Given the description of an element on the screen output the (x, y) to click on. 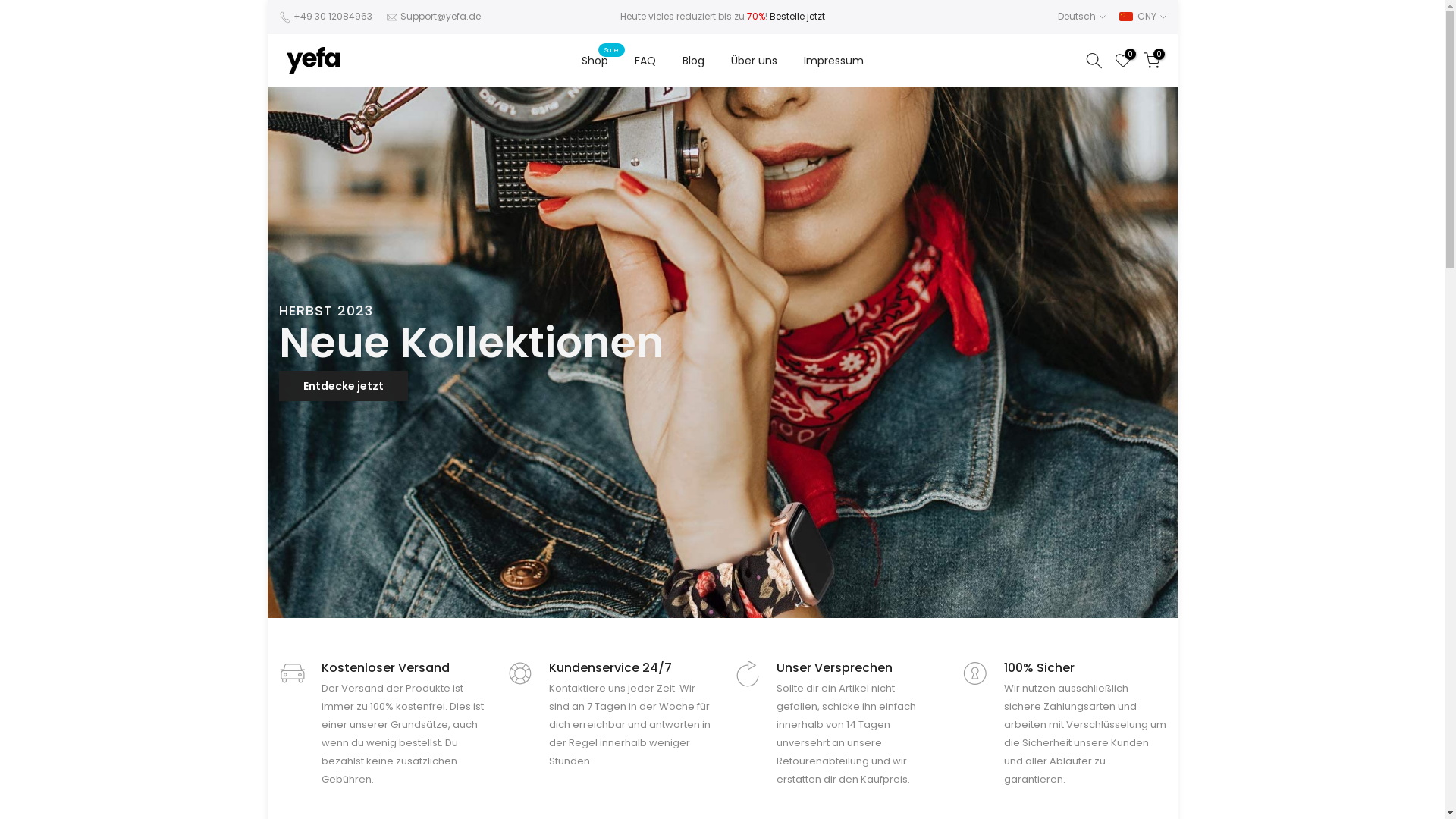
Support@yefa.de Element type: text (440, 15)
Blog Element type: text (692, 60)
0 Element type: text (1151, 60)
Deutsch Element type: text (1080, 16)
Entdecke jetzt Element type: text (343, 385)
CNY Element type: text (1142, 16)
Shop
Sale Element type: text (594, 60)
Bestelle jetzt Element type: text (796, 15)
0 Element type: text (1122, 60)
Impressum Element type: text (833, 60)
FAQ Element type: text (644, 60)
